Given the description of an element on the screen output the (x, y) to click on. 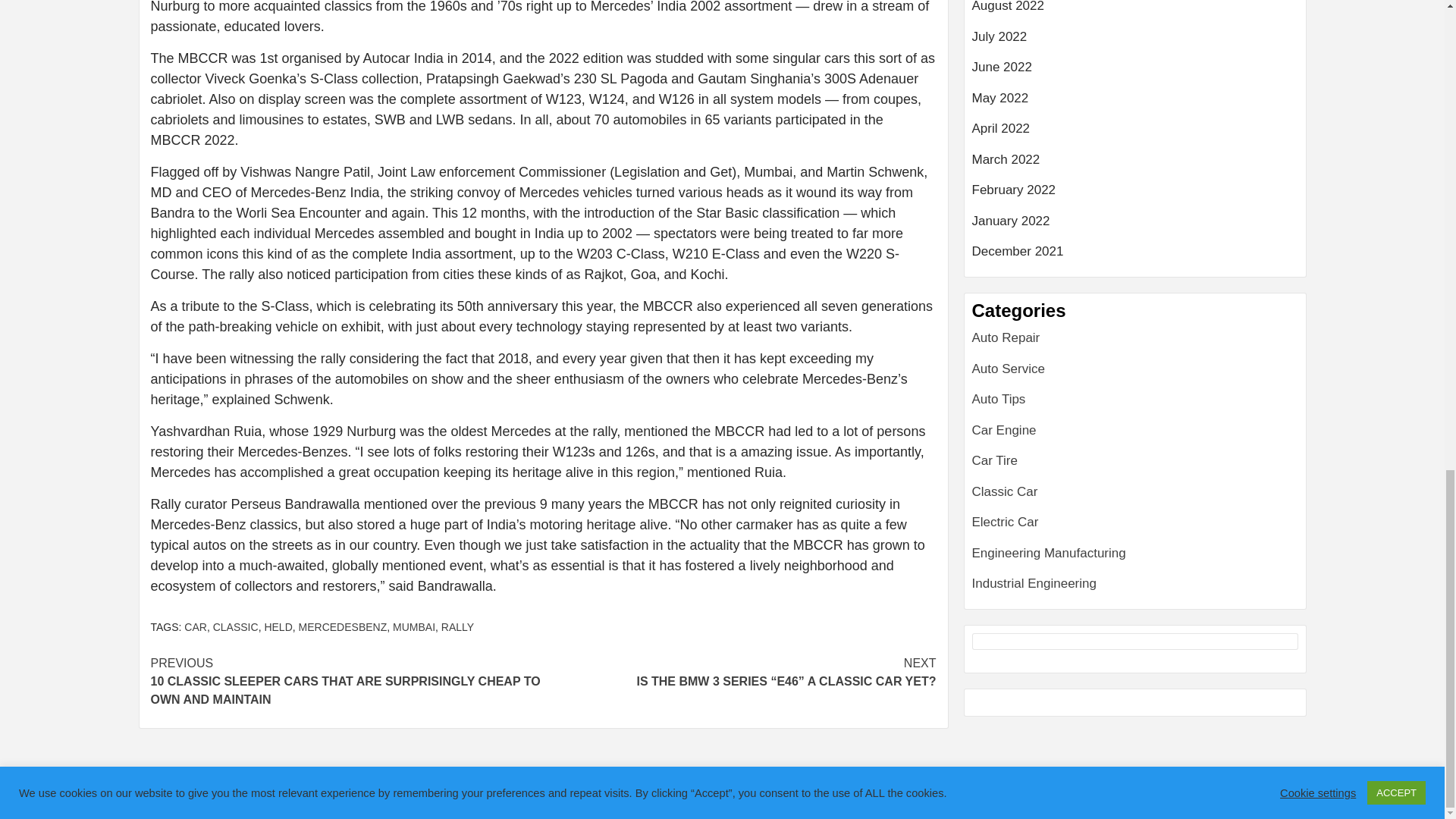
CLASSIC (235, 626)
MERCEDESBENZ (342, 626)
RALLY (457, 626)
HELD (277, 626)
CAR (195, 626)
MUMBAI (414, 626)
